Given the description of an element on the screen output the (x, y) to click on. 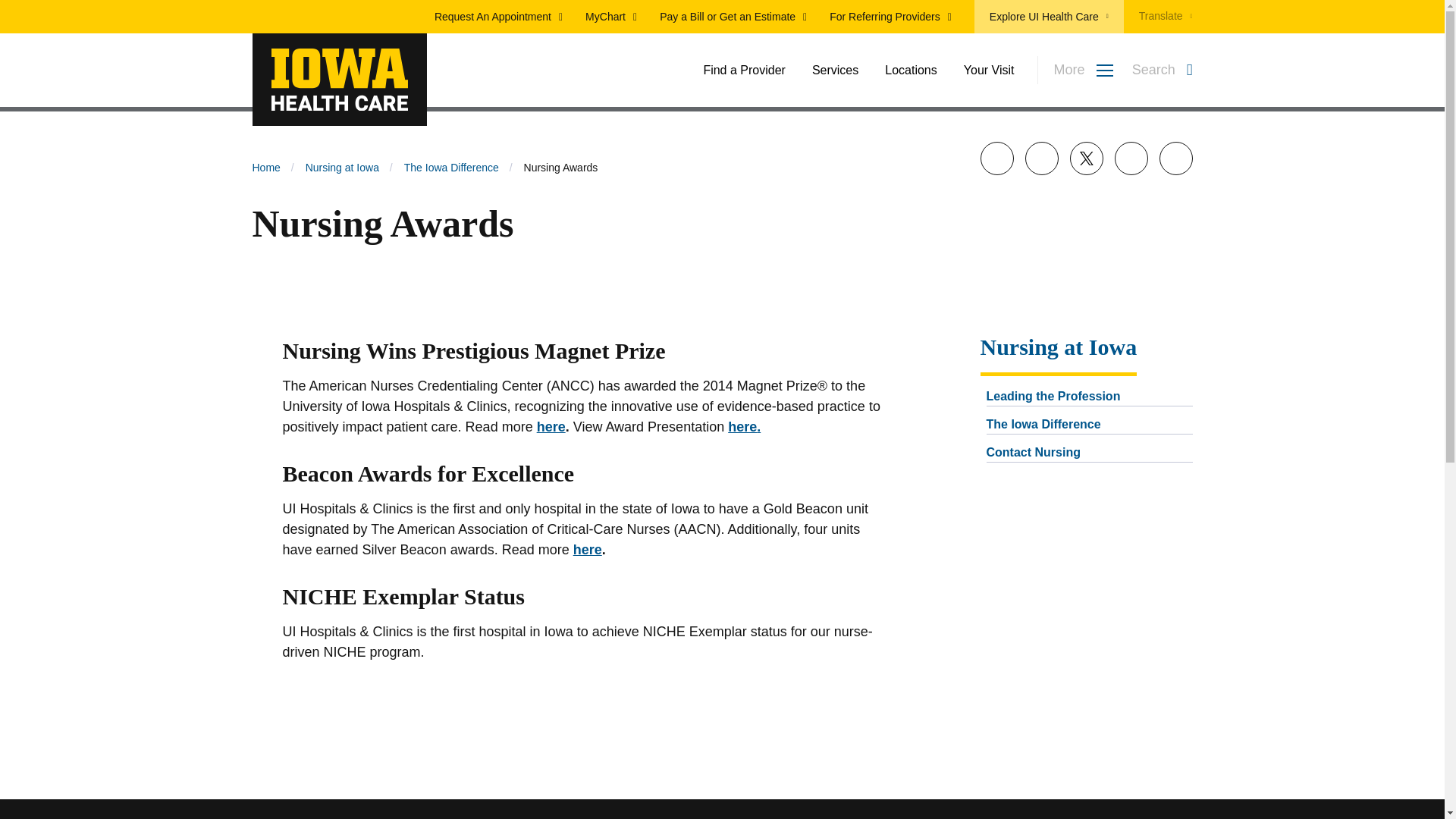
Services (835, 70)
For Referring Providers (890, 16)
Skip to main content (721, 9)
Nursing Awards and Recognition (551, 426)
Search (1162, 69)
Find a Provider (744, 70)
Explore UI Health Care (1049, 16)
Beacon Award for Excellence (587, 549)
Your Visit (988, 70)
Search (1171, 78)
Request An Appointment (497, 16)
Translate (1158, 16)
here. (765, 426)
Locations (911, 70)
More (1074, 70)
